Given the description of an element on the screen output the (x, y) to click on. 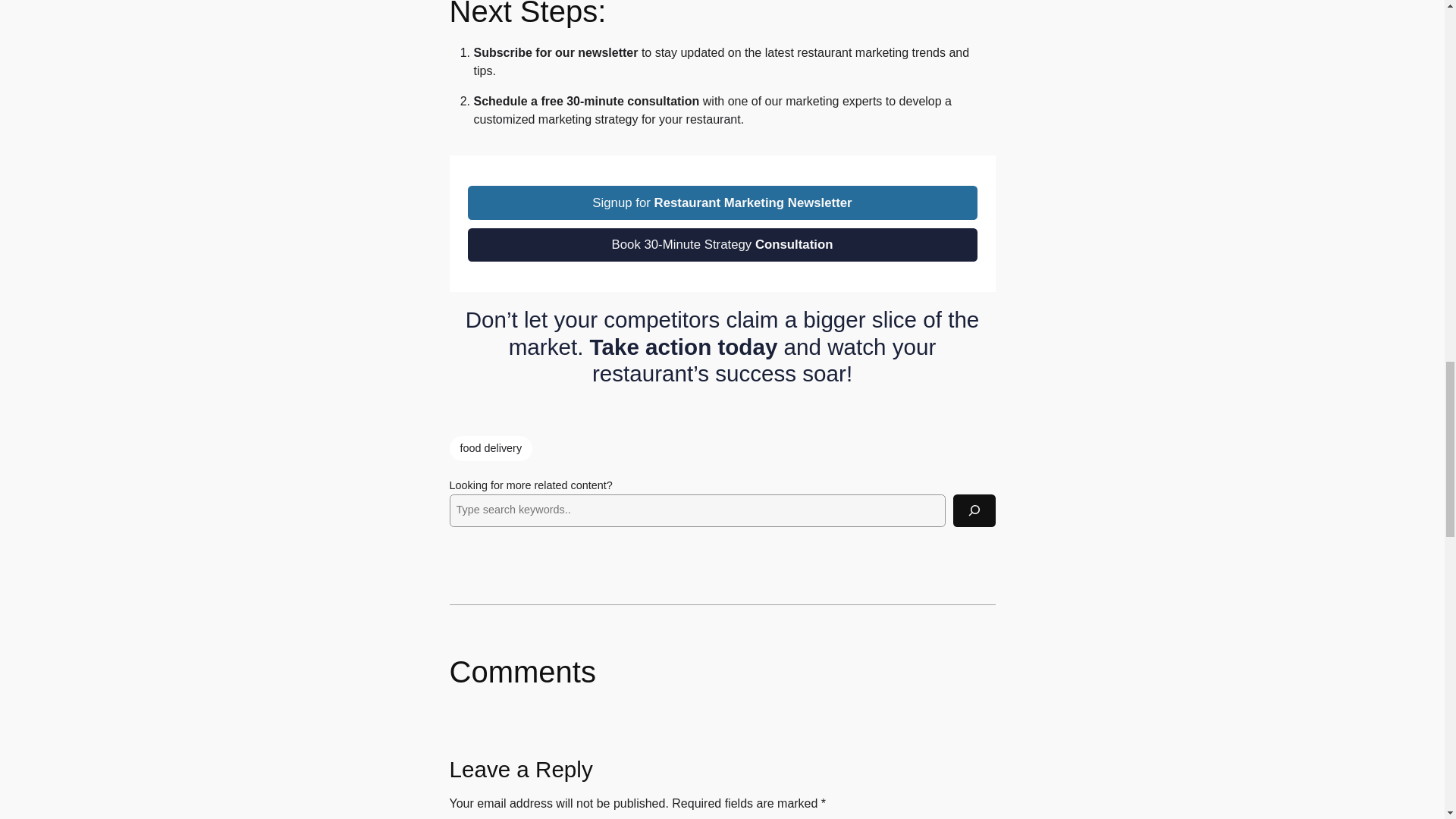
Book 30-Minute Strategy Consultation (721, 244)
food delivery (490, 448)
Signup for Restaurant Marketing Newsletter (721, 202)
